Given the description of an element on the screen output the (x, y) to click on. 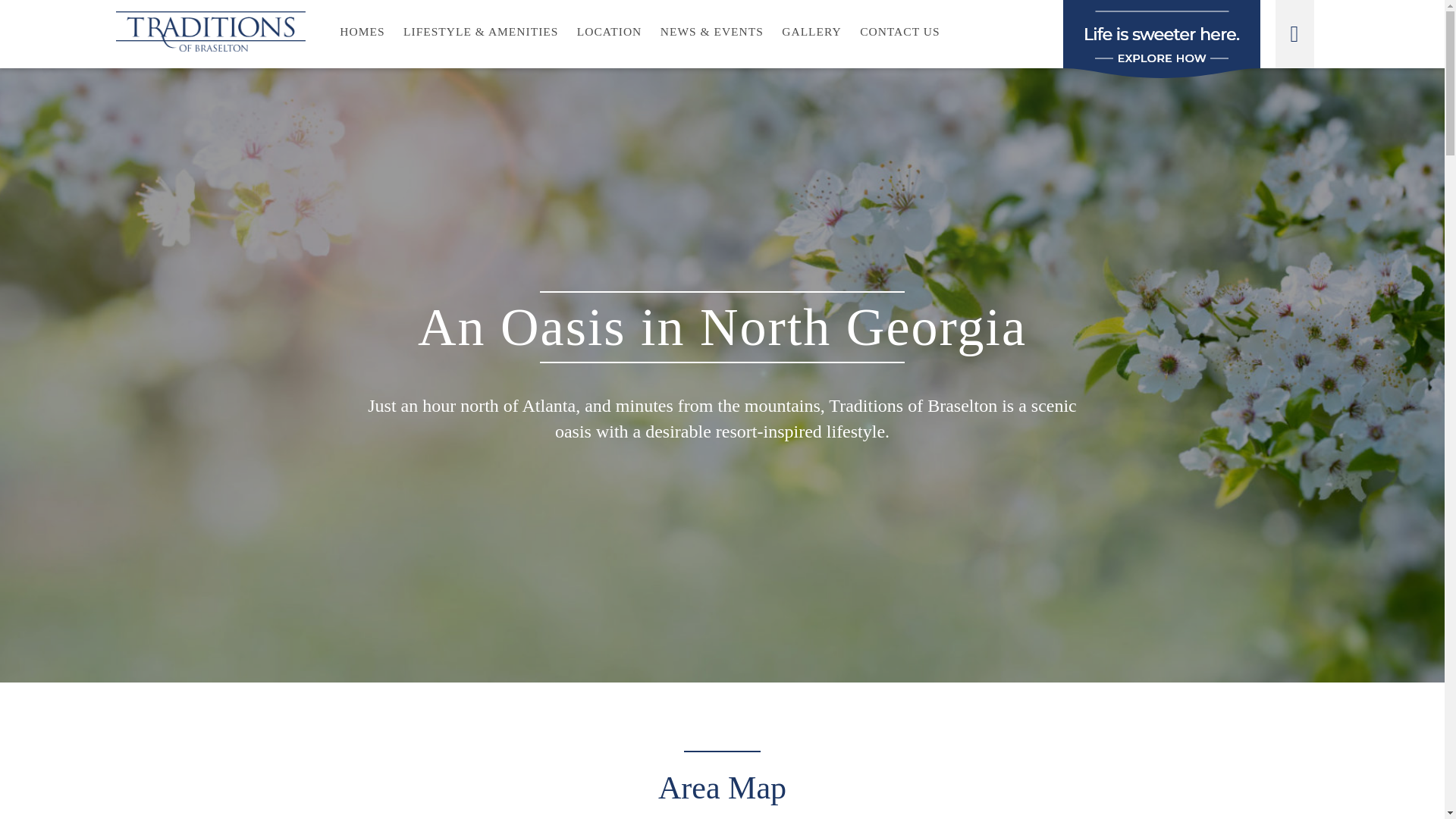
GALLERY (811, 33)
LOCATION (609, 33)
CONTACT US (899, 33)
